Given the description of an element on the screen output the (x, y) to click on. 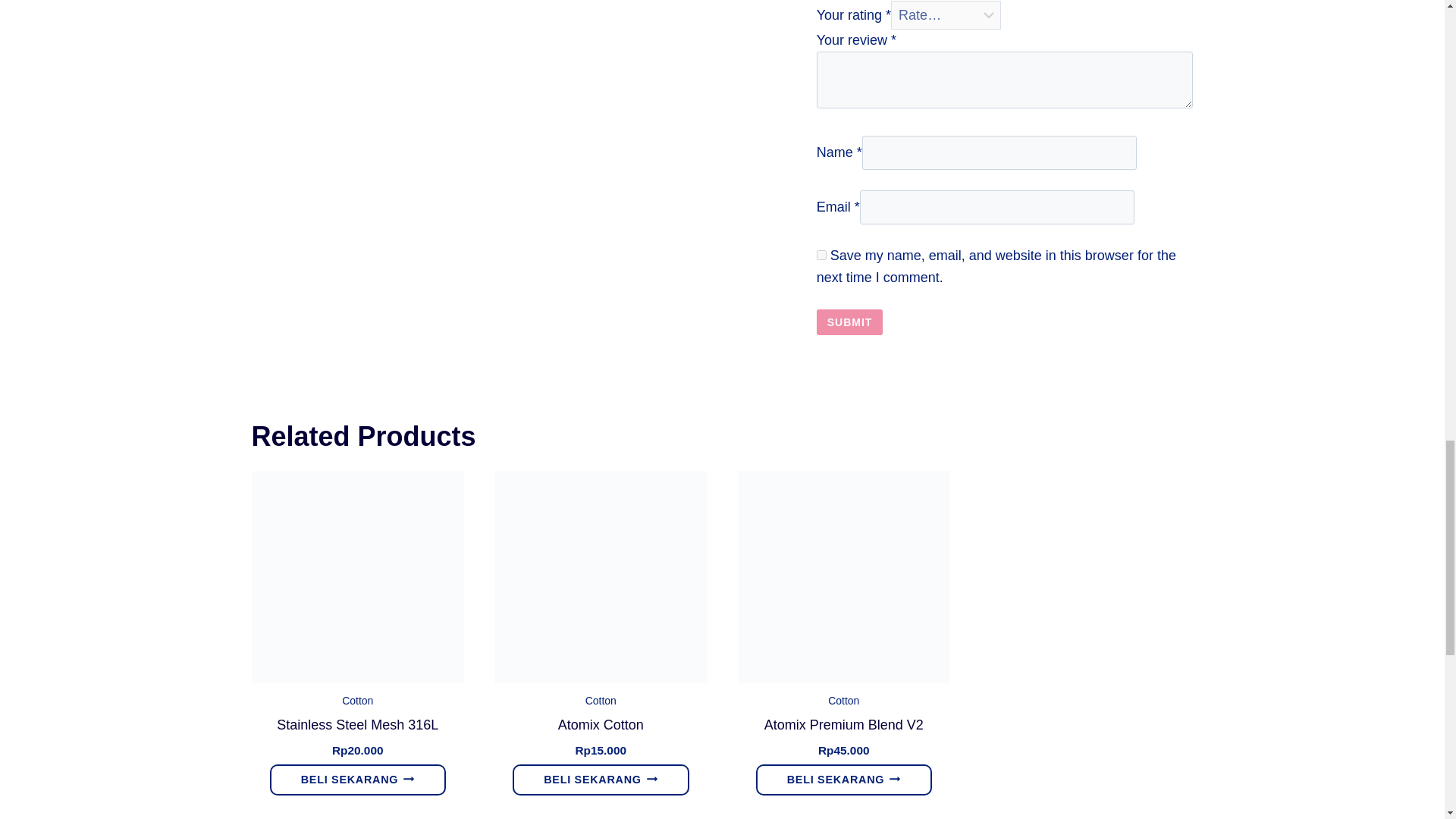
yes (821, 255)
Submit (849, 321)
